Given the description of an element on the screen output the (x, y) to click on. 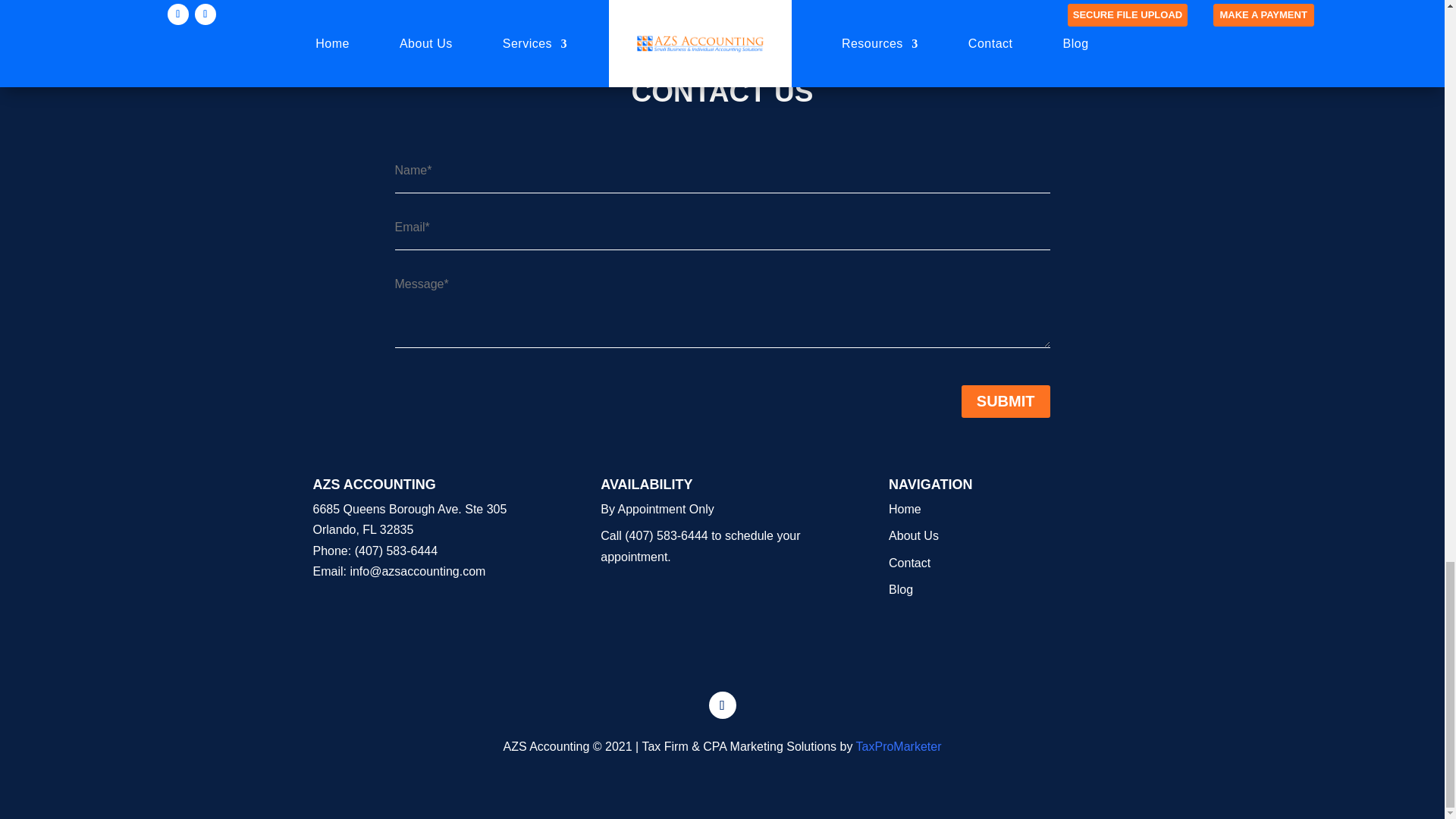
Submit (1004, 400)
Follow on Facebook (721, 705)
